Given the description of an element on the screen output the (x, y) to click on. 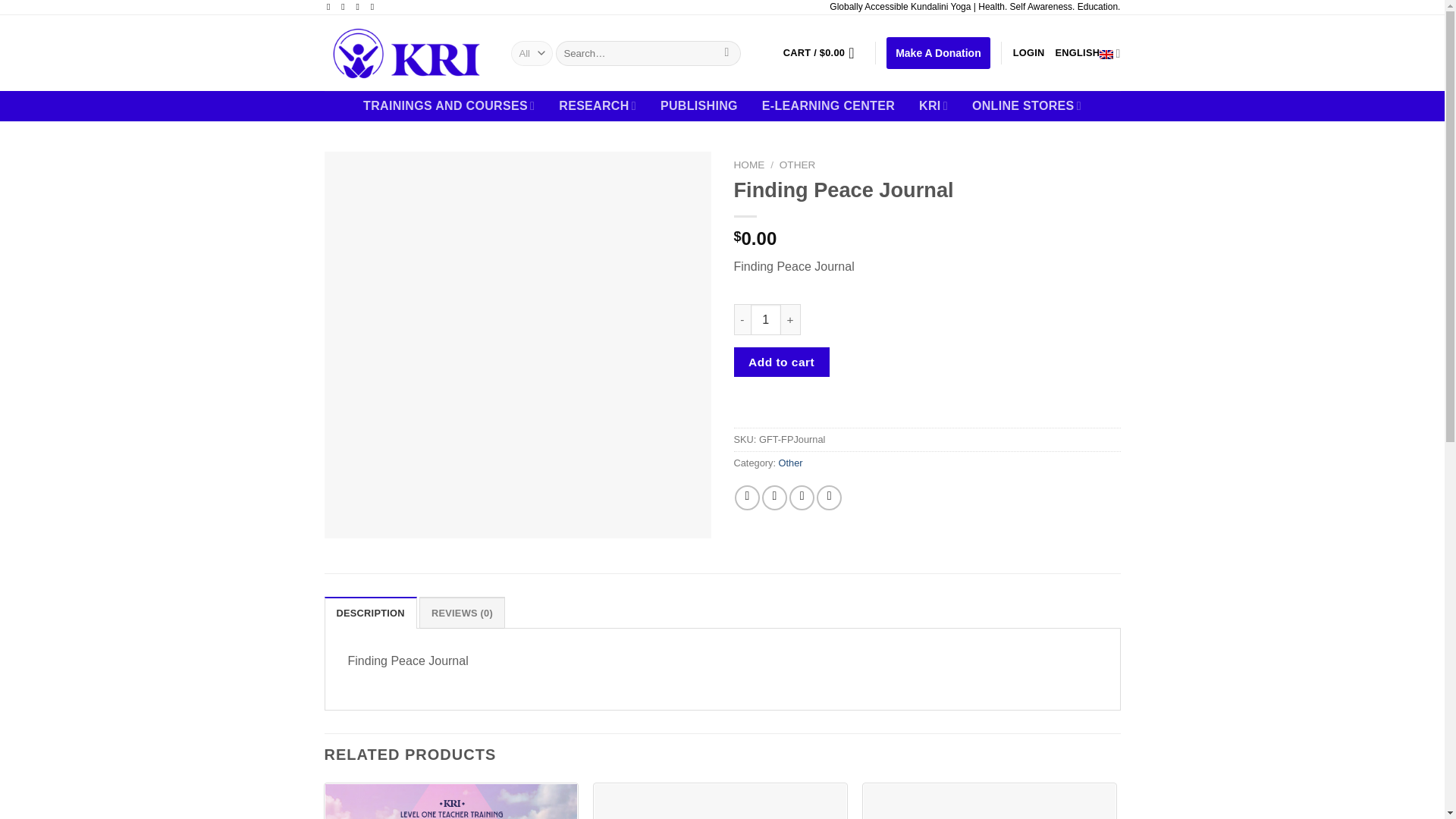
Login (1029, 52)
LOGIN (1029, 52)
ENGLISH (1088, 52)
Cart (823, 52)
The Kundalini Research Institute (405, 52)
Make A Donation (938, 52)
Share on Twitter (774, 497)
Pin on Pinterest (828, 497)
1 (765, 318)
Email to a Friend (801, 497)
Share on Facebook (747, 497)
Search (726, 53)
TRAININGS AND COURSES (448, 105)
